Given the description of an element on the screen output the (x, y) to click on. 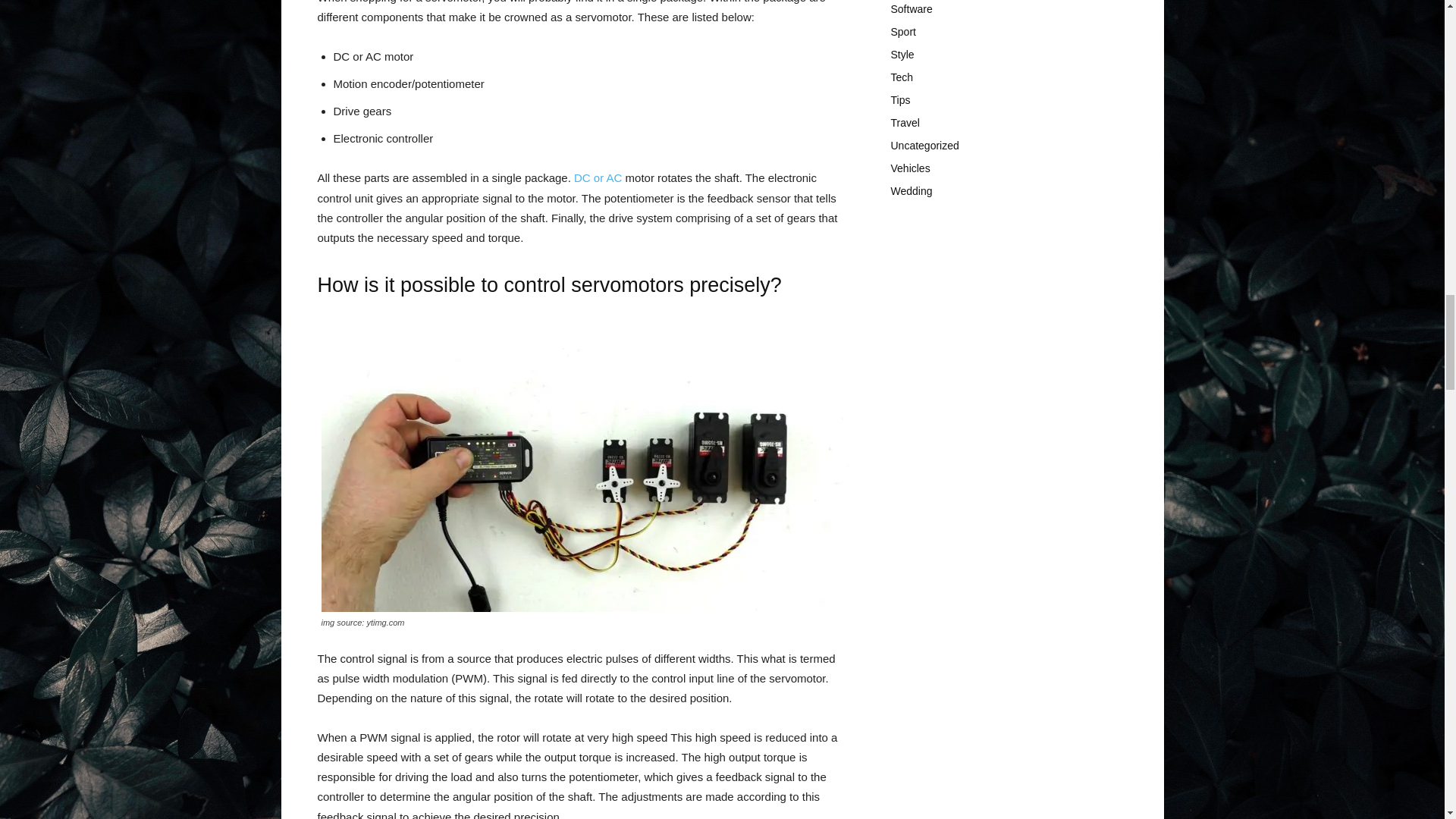
DC or AC (597, 177)
